Given the description of an element on the screen output the (x, y) to click on. 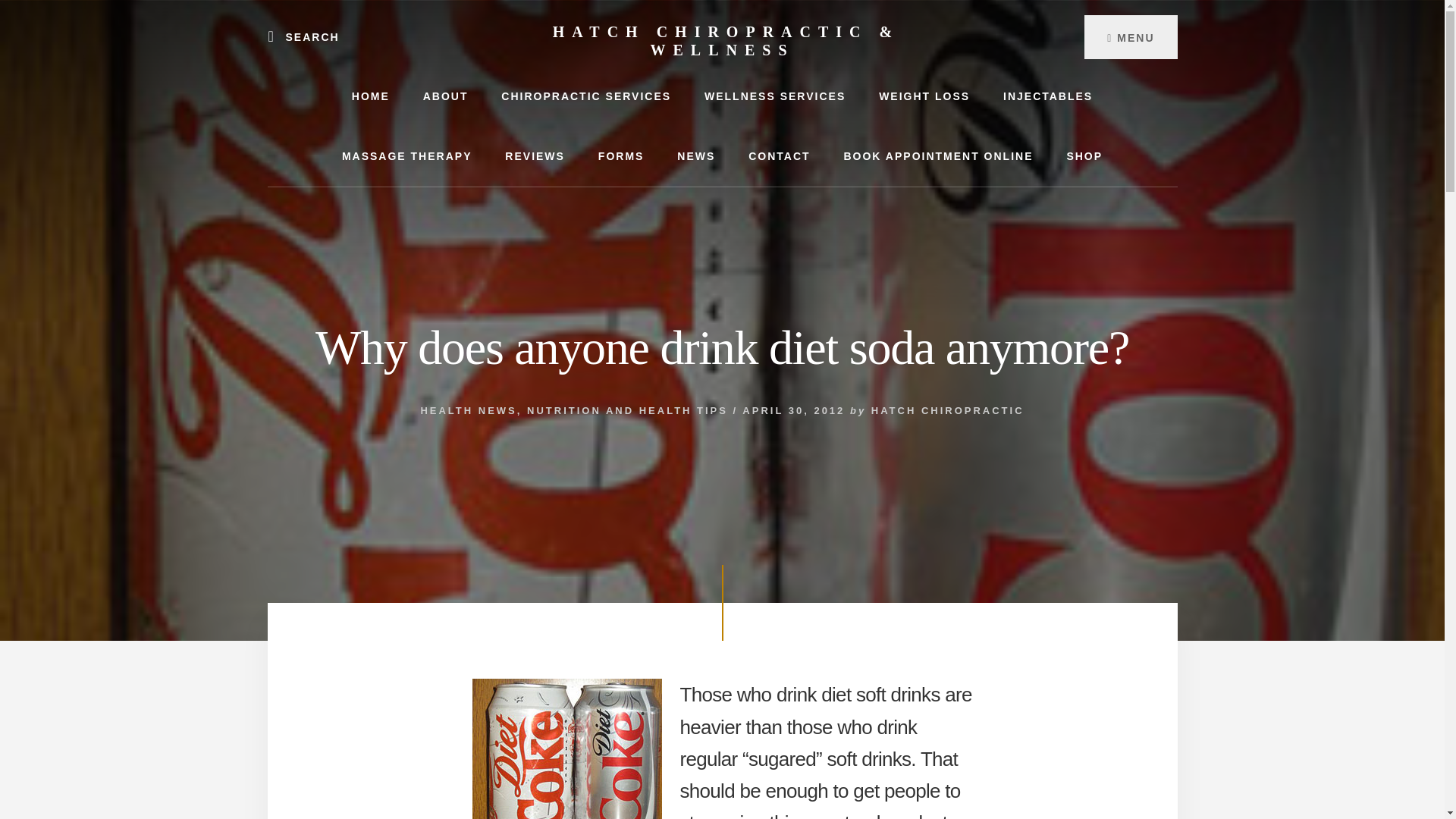
WELLNESS SERVICES (774, 96)
HOME (370, 96)
Chiropractic Services (774, 96)
Forms (621, 156)
Family Chiropractic Services (585, 96)
Welcome to Hatch Chiropractic (445, 96)
ABOUT (445, 96)
